Given the description of an element on the screen output the (x, y) to click on. 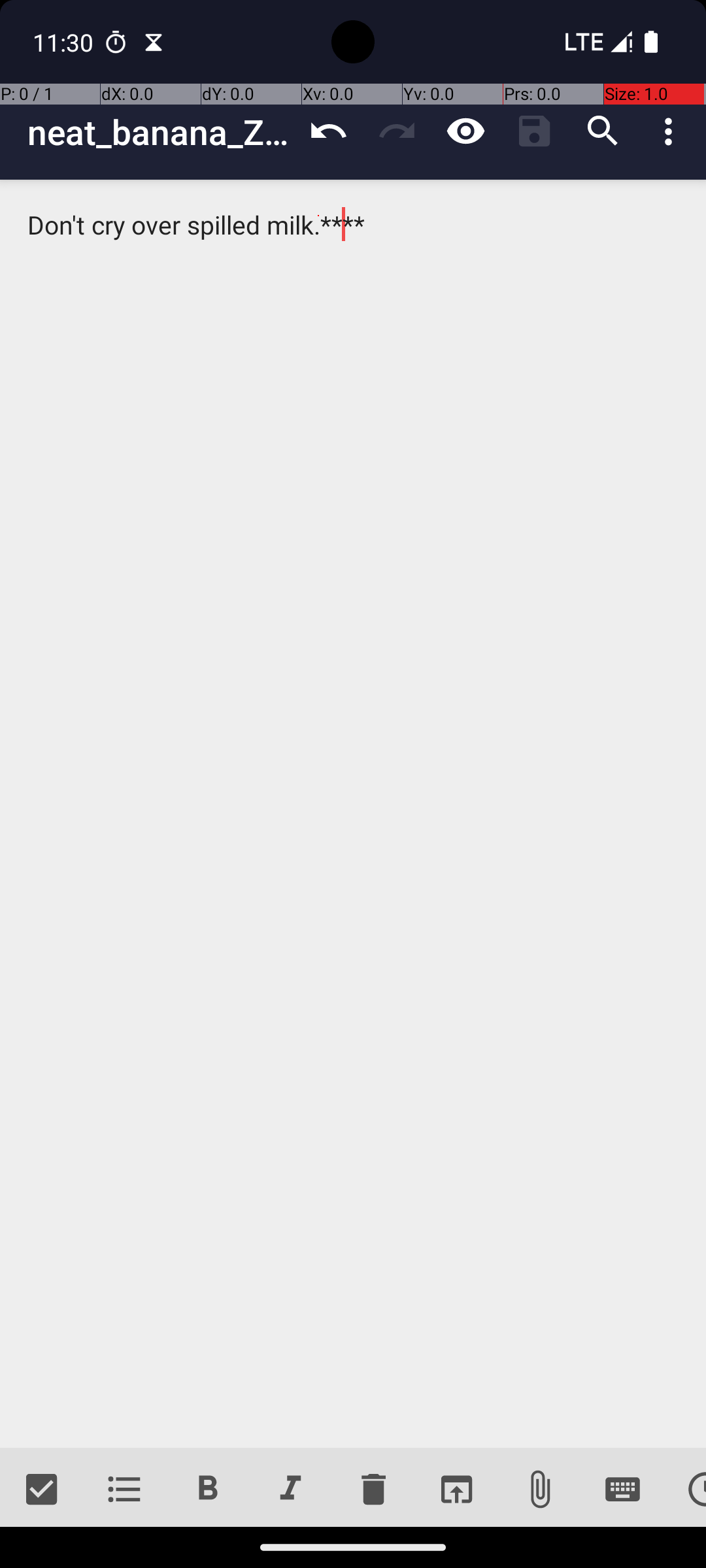
neat_banana_Zjqa Element type: android.widget.TextView (160, 131)
Don't cry over spilled milk.****
 Element type: android.widget.EditText (353, 813)
11:30 Element type: android.widget.TextView (64, 41)
